Given the description of an element on the screen output the (x, y) to click on. 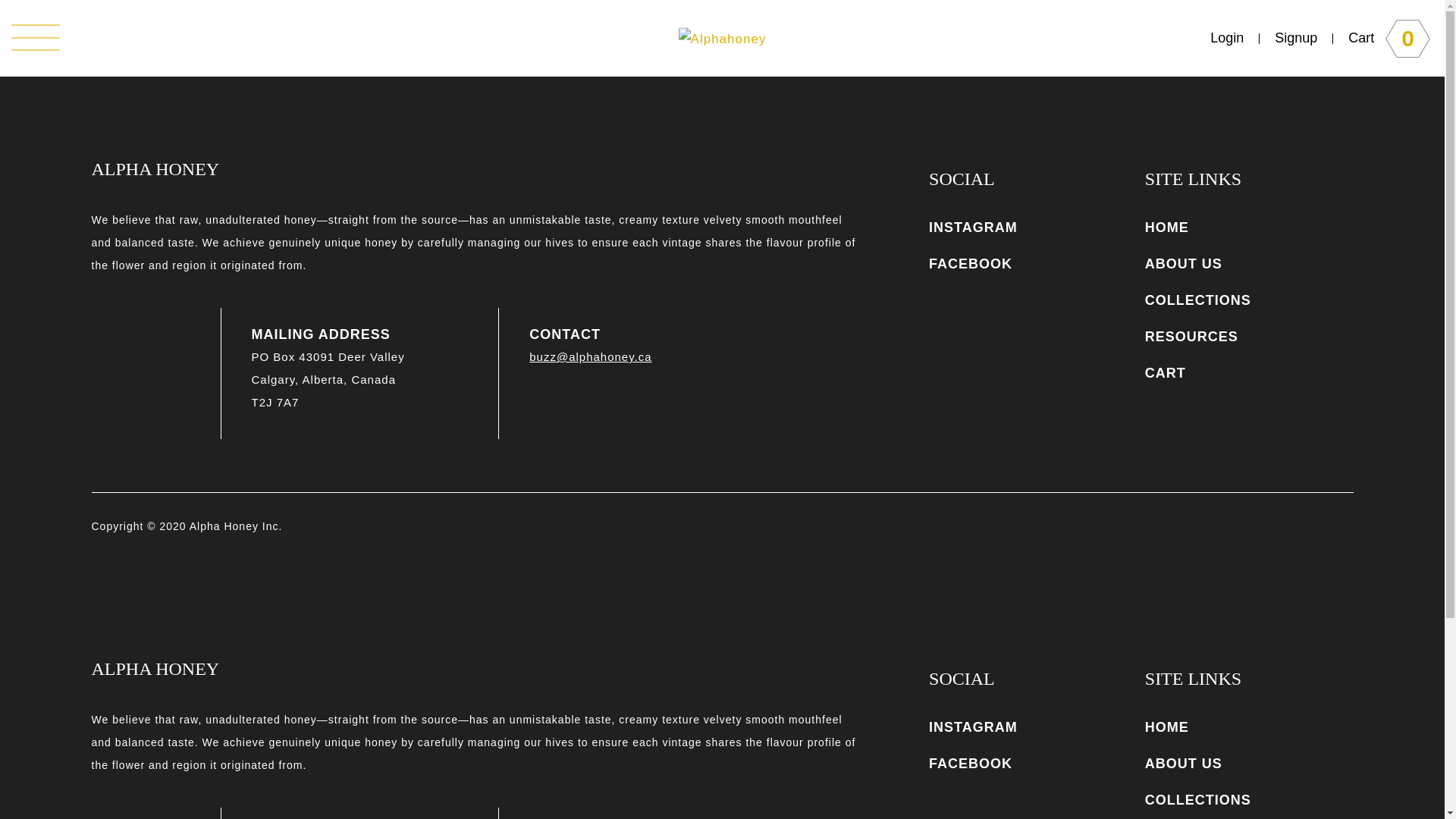
CART Element type: text (1165, 372)
FACEBOOK Element type: text (970, 763)
HOME Element type: text (1167, 227)
FACEBOOK Element type: text (970, 263)
Login Element type: text (1227, 38)
COLLECTIONS Element type: text (1198, 799)
Alphahoney Element type: hover (722, 38)
buzz@alphahoney.ca Element type: text (590, 356)
Signup Element type: text (1296, 38)
COLLECTIONS Element type: text (1198, 299)
INSTAGRAM Element type: text (972, 726)
ABOUT US Element type: text (1183, 263)
Alphahoney Element type: hover (722, 38)
INSTAGRAM Element type: text (972, 227)
Cart
0 Element type: text (1388, 38)
RESOURCES Element type: text (1191, 336)
ABOUT US Element type: text (1183, 763)
HOME Element type: text (1167, 726)
